Given the description of an element on the screen output the (x, y) to click on. 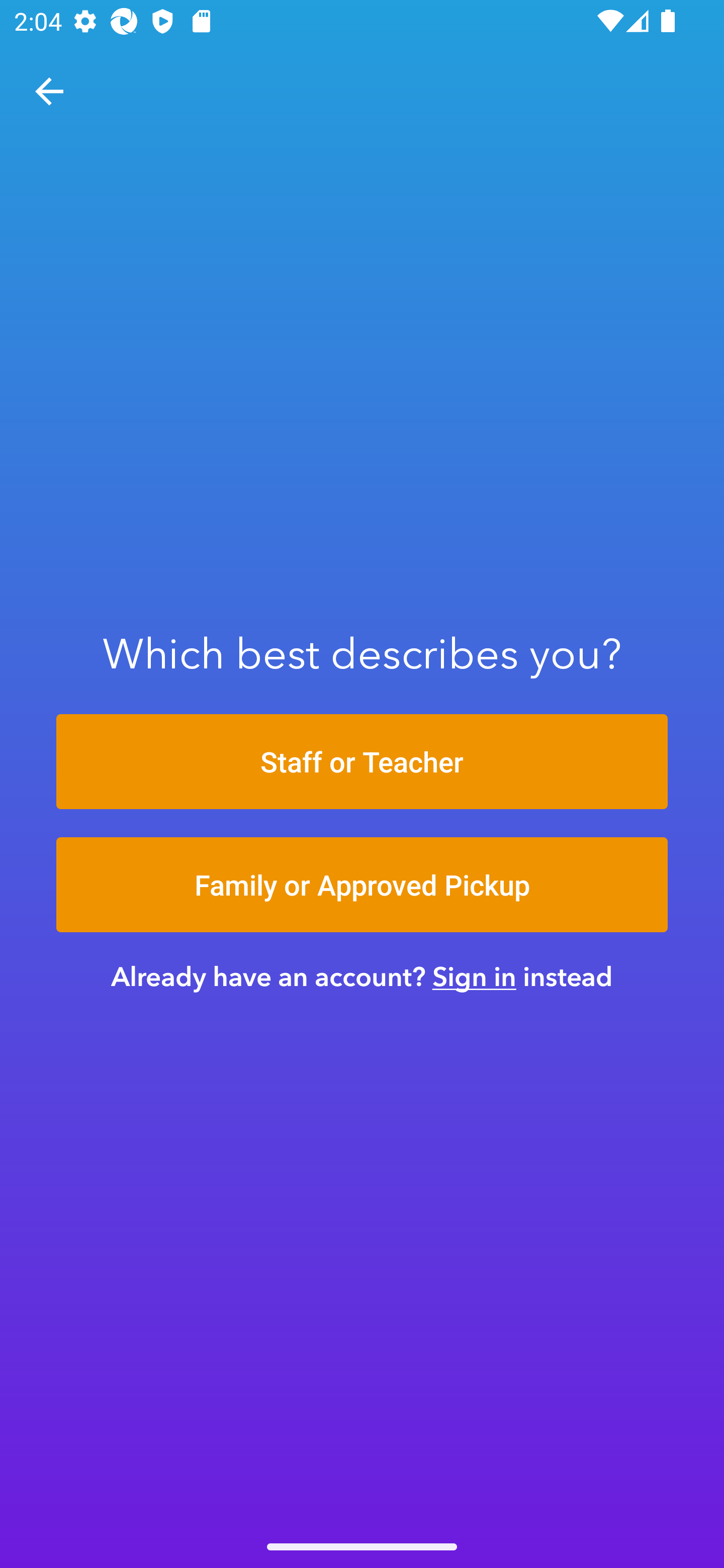
Navigate up (49, 91)
Staff or Teacher (361, 761)
Family or Approved Pickup (361, 884)
Already have an account? Sign in instead (361, 975)
